Given the description of an element on the screen output the (x, y) to click on. 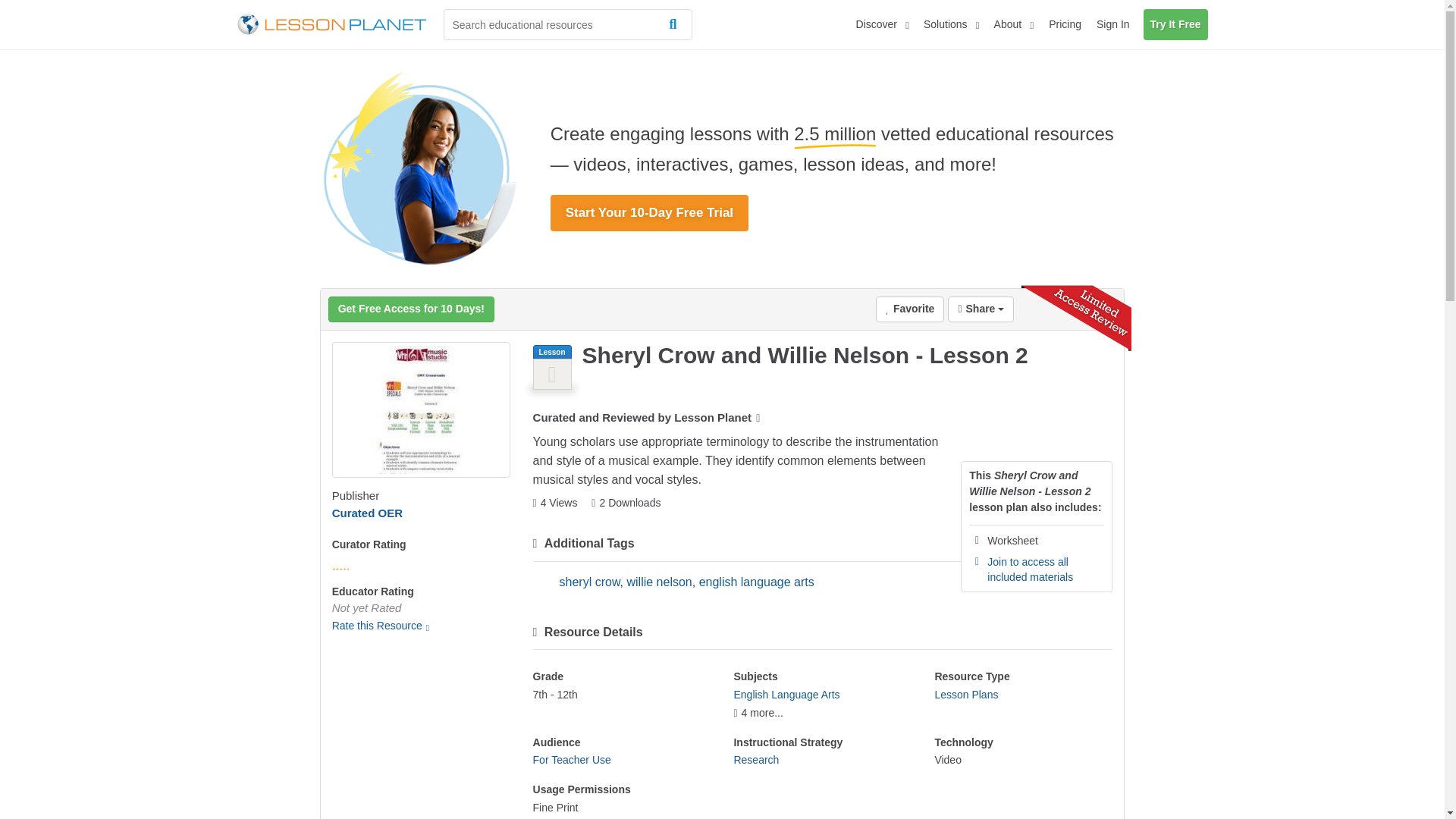
Sign In (1113, 24)
Search (676, 24)
willie nelson (658, 581)
Sheryl Crow and Willie Nelson - Lesson 2 Lesson Plan (421, 409)
English Language Arts (786, 694)
Curated OER (367, 512)
Share (980, 309)
Lesson Plans (965, 694)
Pricing (1065, 24)
Try It Free (1175, 24)
